Given the description of an element on the screen output the (x, y) to click on. 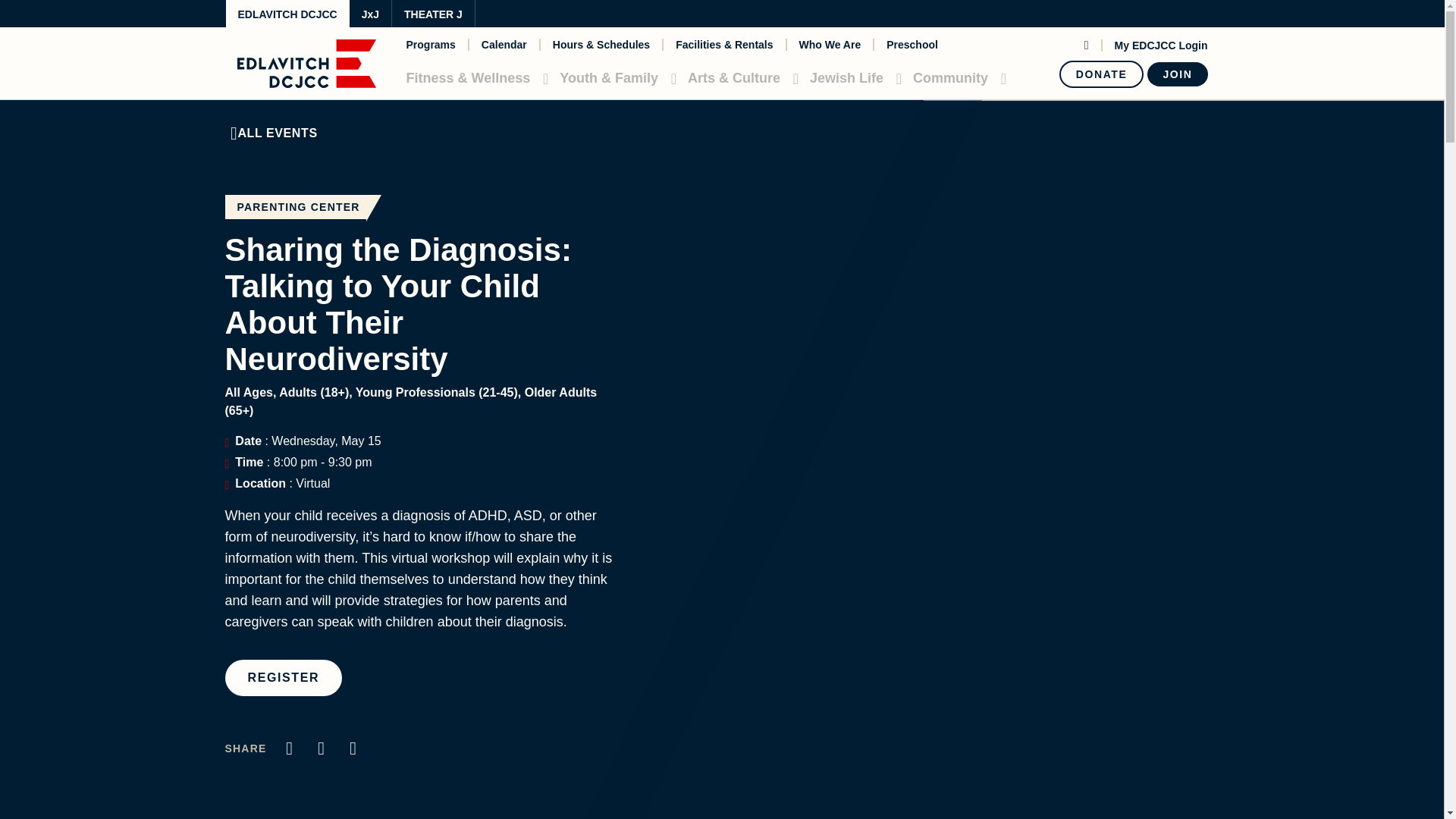
JxJ (370, 13)
THEATER J (432, 13)
EDLAVITCH DCJCC (287, 13)
Jewish Life (852, 77)
